Given the description of an element on the screen output the (x, y) to click on. 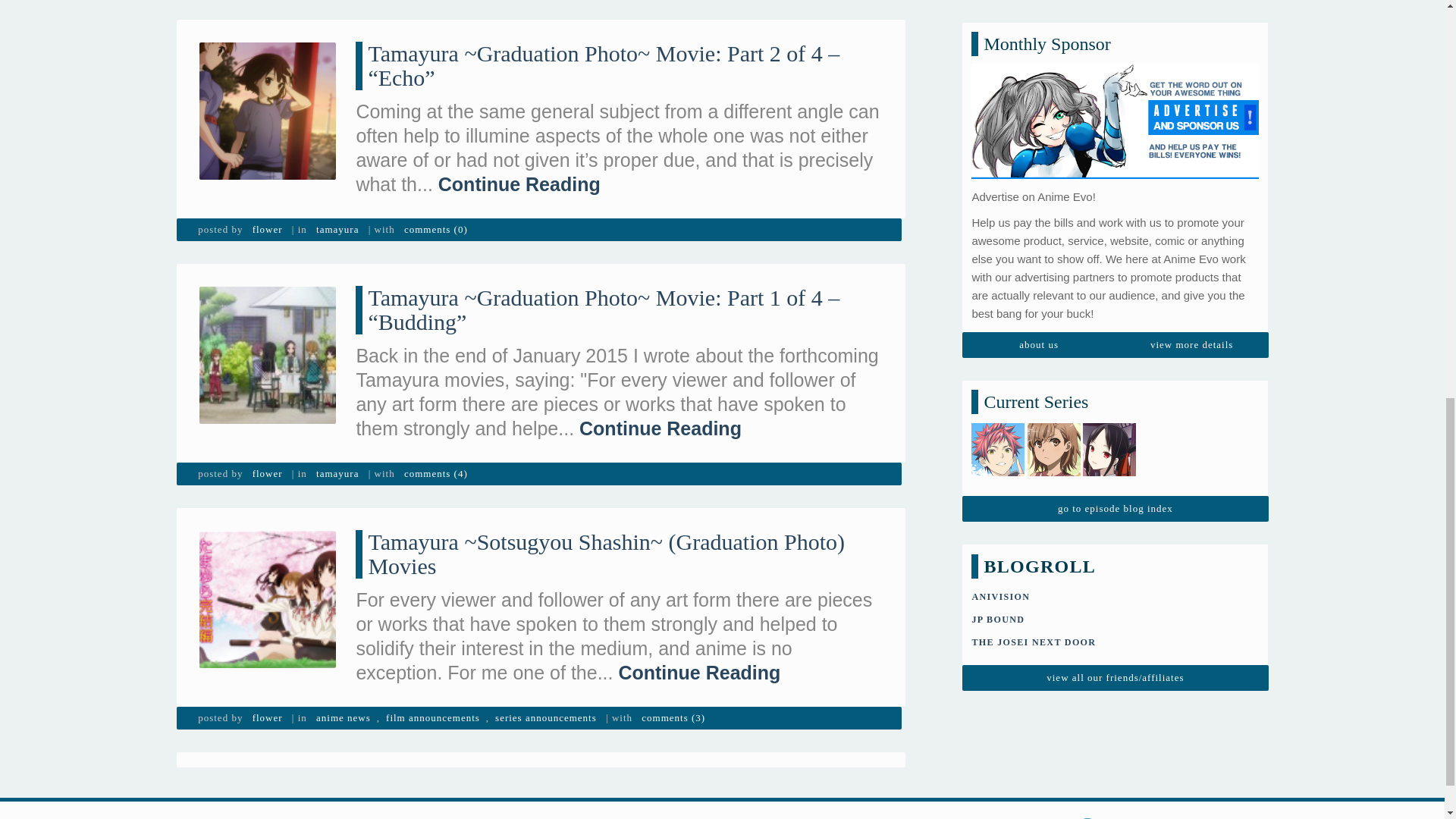
Posts by Flower (267, 717)
flower (267, 473)
Posts by Flower (267, 473)
ANIVISION (1000, 119)
JP BOUND (998, 142)
tamayura (337, 229)
Continue Reading (518, 183)
Railgun T EP Blog (1053, 0)
flower (267, 229)
Shokugeki 5 EP Blog (998, 0)
THE JOSEI NEXT DOOR (1033, 164)
Kaguya-sama 2 EP Blog (1109, 0)
Great Anime Blog run by Dee! (1033, 164)
Posts by Flower (267, 229)
go to episode blog index (1115, 31)
